Given the description of an element on the screen output the (x, y) to click on. 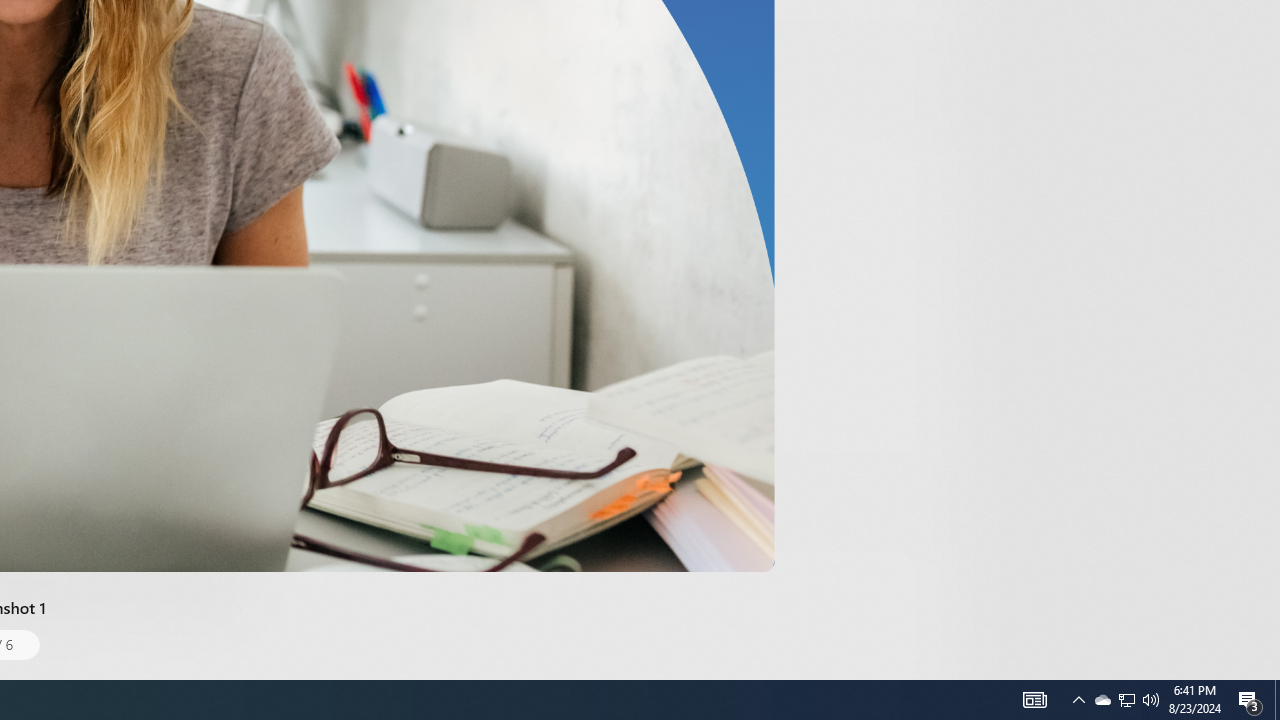
Show all ratings and reviews (924, 97)
